Given the description of an element on the screen output the (x, y) to click on. 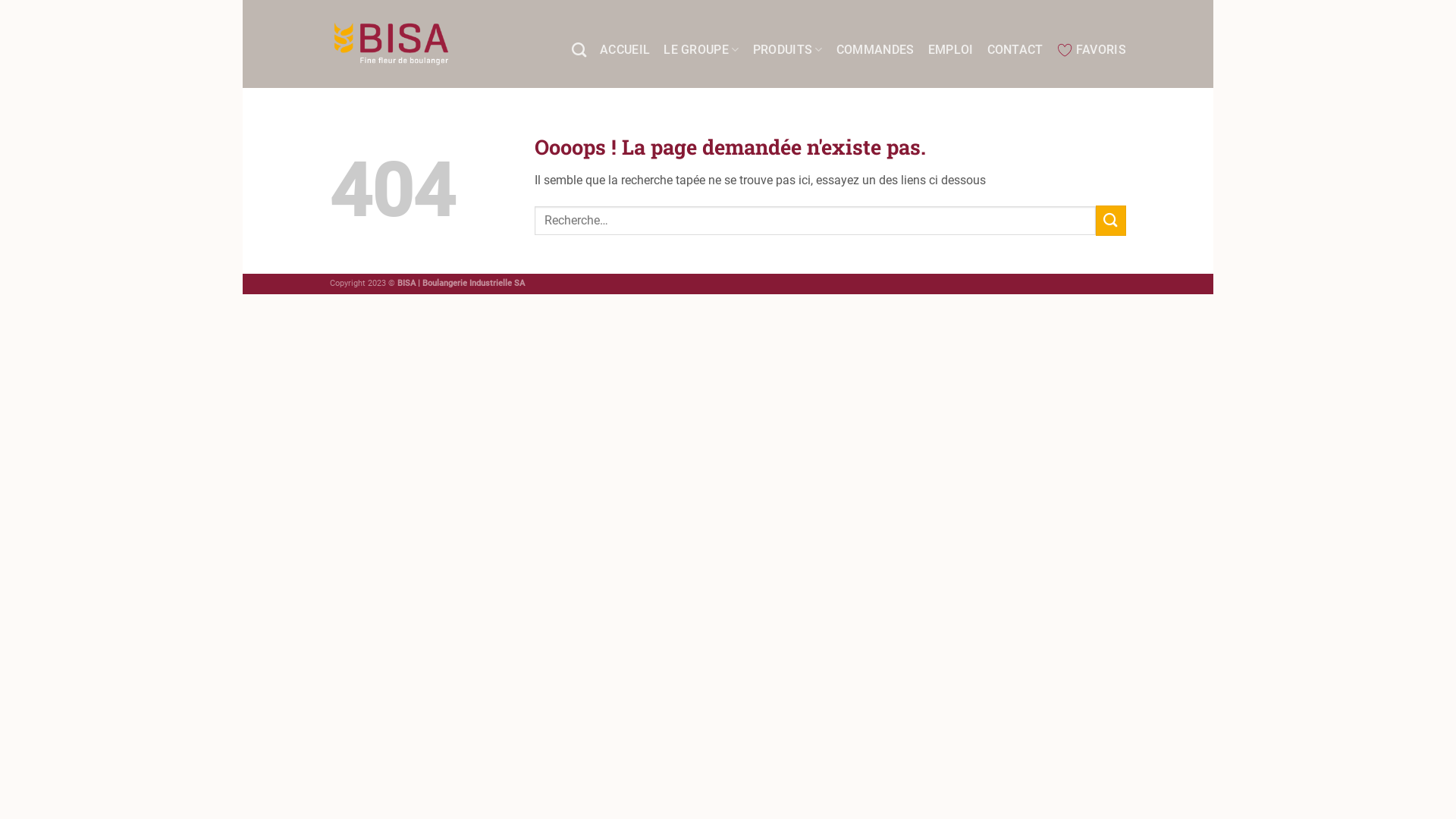
FAVORIS Element type: text (1091, 50)
ACCUEIL Element type: text (624, 50)
BISA | Boulangerie Industrielle SA - Fine fleur de boulanger Element type: hover (390, 43)
LE GROUPE Element type: text (700, 50)
EMPLOI Element type: text (950, 50)
PRODUITS Element type: text (787, 50)
COMMANDES Element type: text (875, 50)
CONTACT Element type: text (1015, 50)
